Given the description of an element on the screen output the (x, y) to click on. 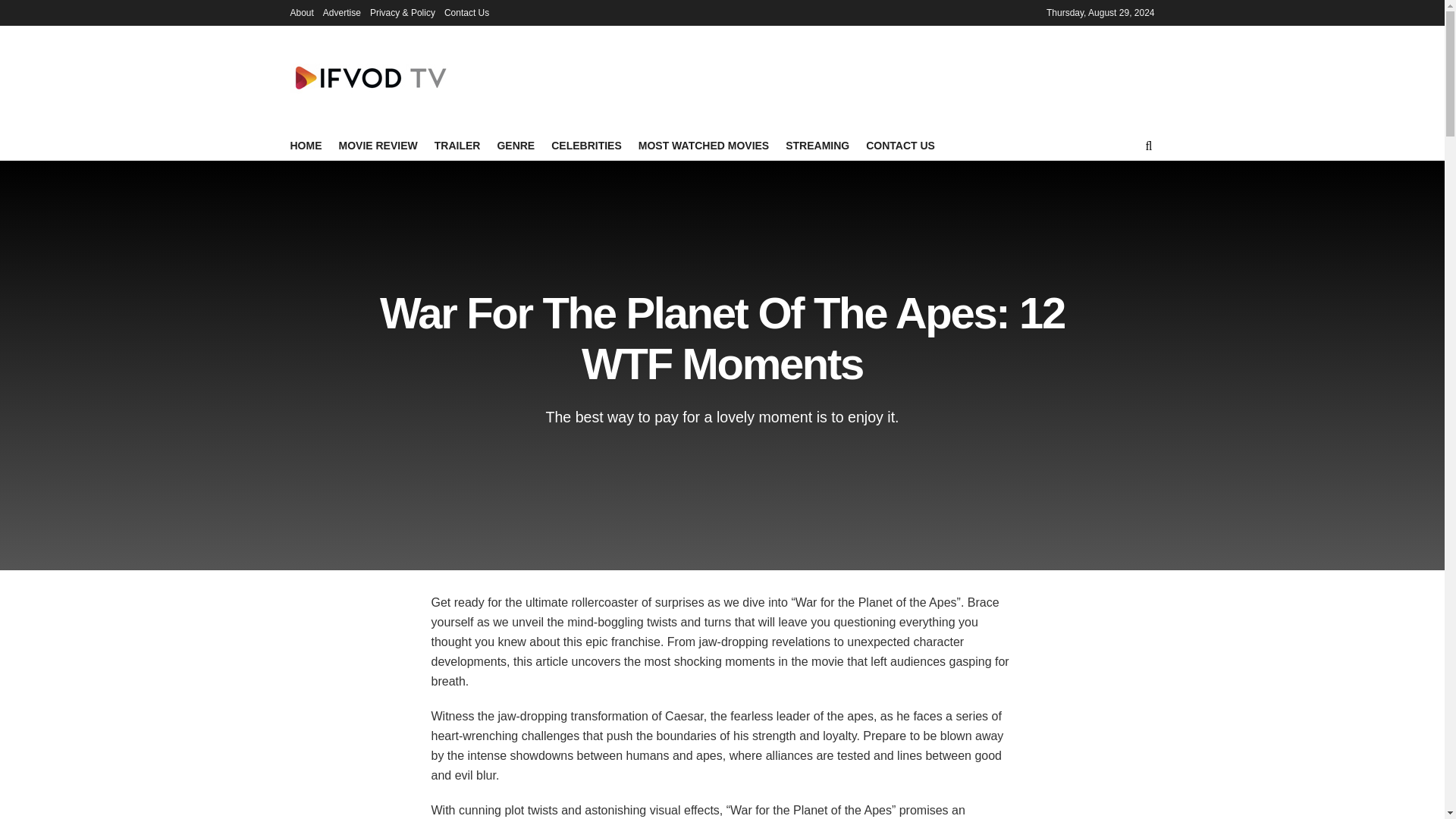
About (301, 12)
HOME (305, 145)
Contact Us (466, 12)
TRAILER (456, 145)
Advertise (342, 12)
MOVIE REVIEW (376, 145)
